Given the description of an element on the screen output the (x, y) to click on. 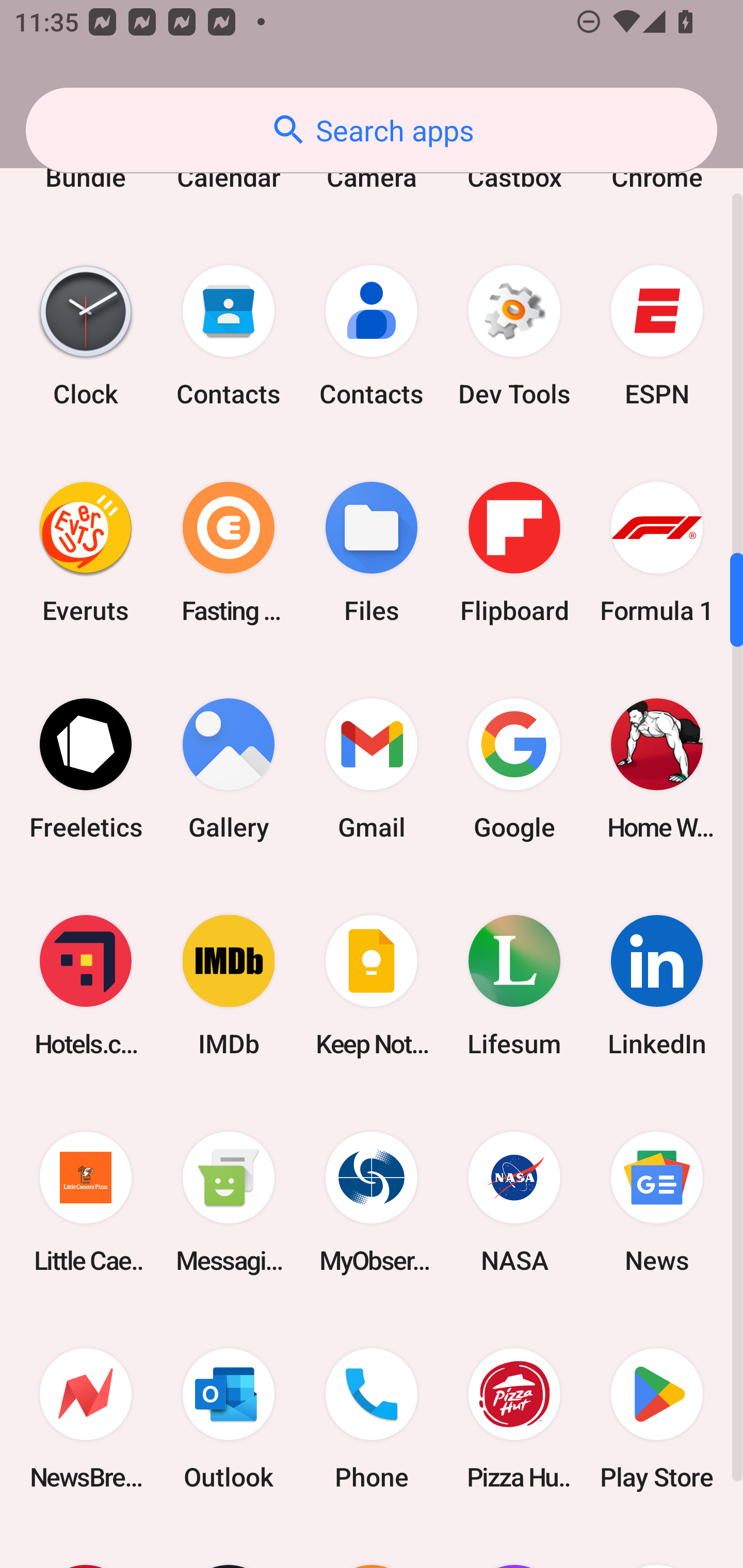
  Search apps (371, 130)
Clock (85, 335)
Contacts (228, 335)
Contacts (371, 335)
Dev Tools (514, 335)
ESPN (656, 335)
Everuts (85, 551)
Fasting Coach (228, 551)
Files (371, 551)
Flipboard (514, 551)
Formula 1 (656, 551)
Freeletics (85, 769)
Gallery (228, 769)
Gmail (371, 769)
Google (514, 769)
Home Workout (656, 769)
Hotels.com (85, 986)
IMDb (228, 986)
Keep Notes (371, 986)
Lifesum (514, 986)
LinkedIn (656, 986)
Little Caesars Pizza (85, 1202)
Messaging (228, 1202)
MyObservatory (371, 1202)
NASA (514, 1202)
News (656, 1202)
NewsBreak (85, 1418)
Outlook (228, 1418)
Phone (371, 1418)
Pizza Hut HK & Macau (514, 1418)
Play Store (656, 1418)
